Given the description of an element on the screen output the (x, y) to click on. 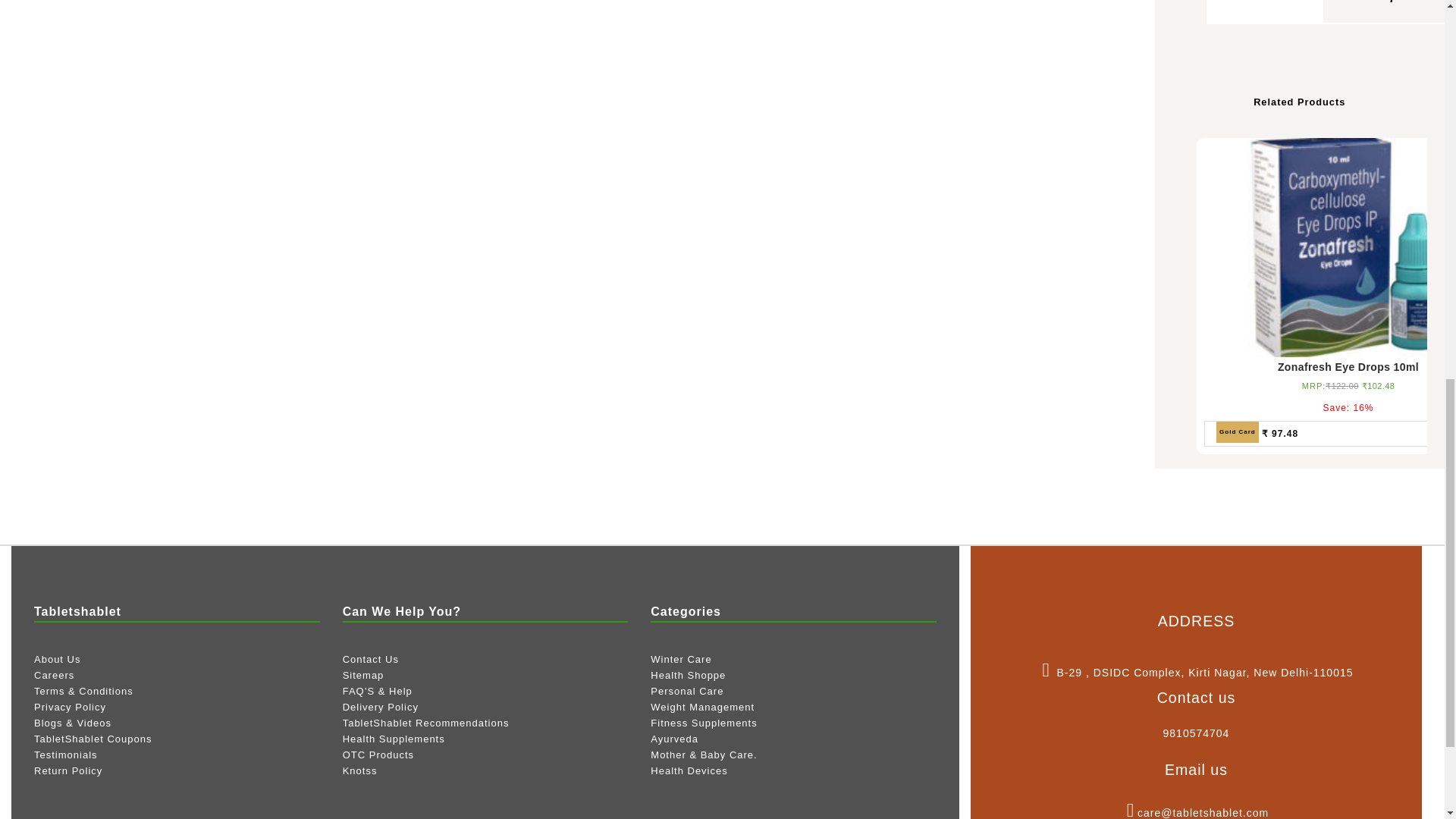
TabletShablet Coupons (92, 738)
Daily Health Care Journal By TabletShablet (72, 722)
